Given the description of an element on the screen output the (x, y) to click on. 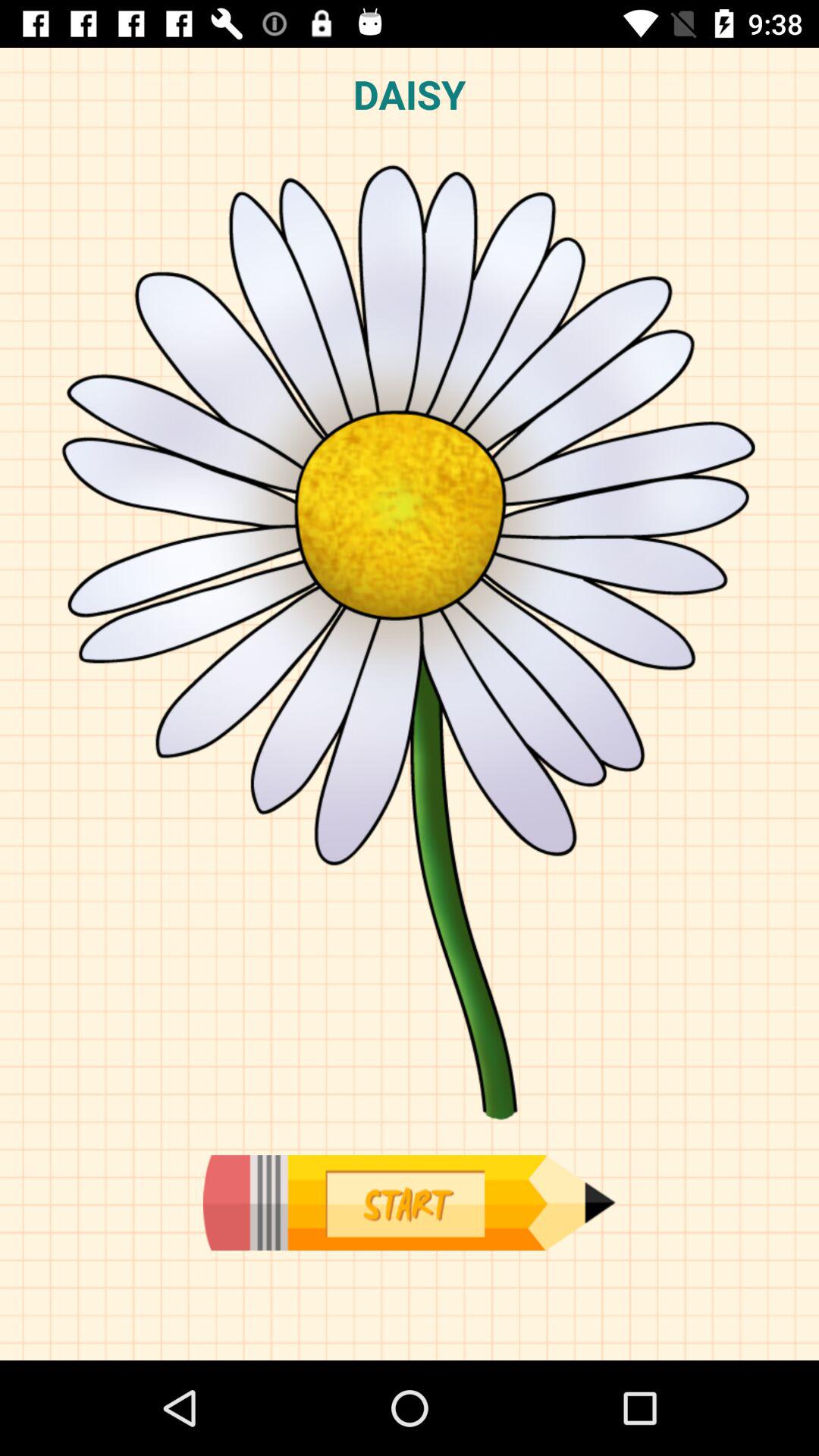
start drawing (409, 1202)
